Given the description of an element on the screen output the (x, y) to click on. 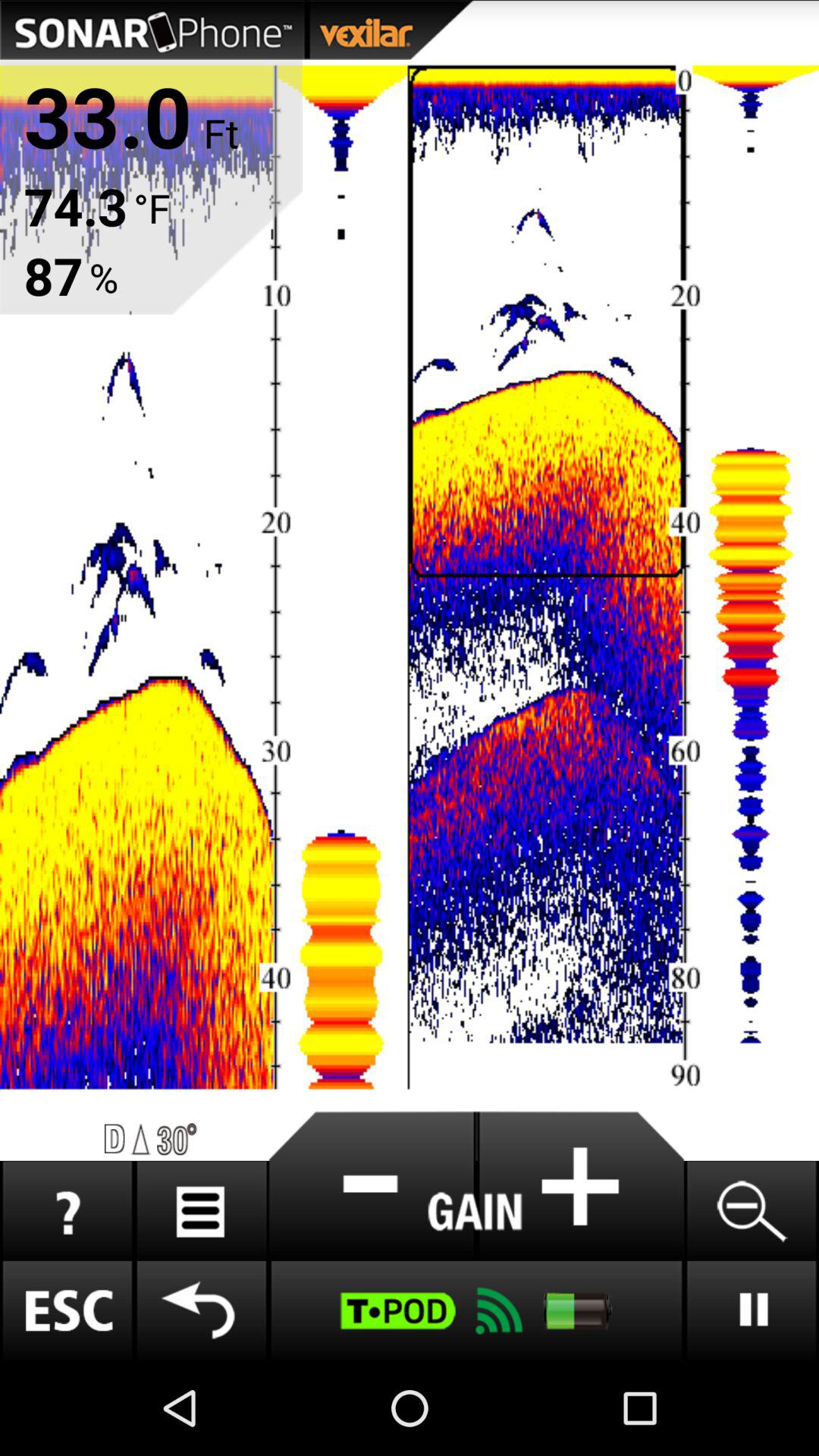
go to play option (751, 1310)
